Given the description of an element on the screen output the (x, y) to click on. 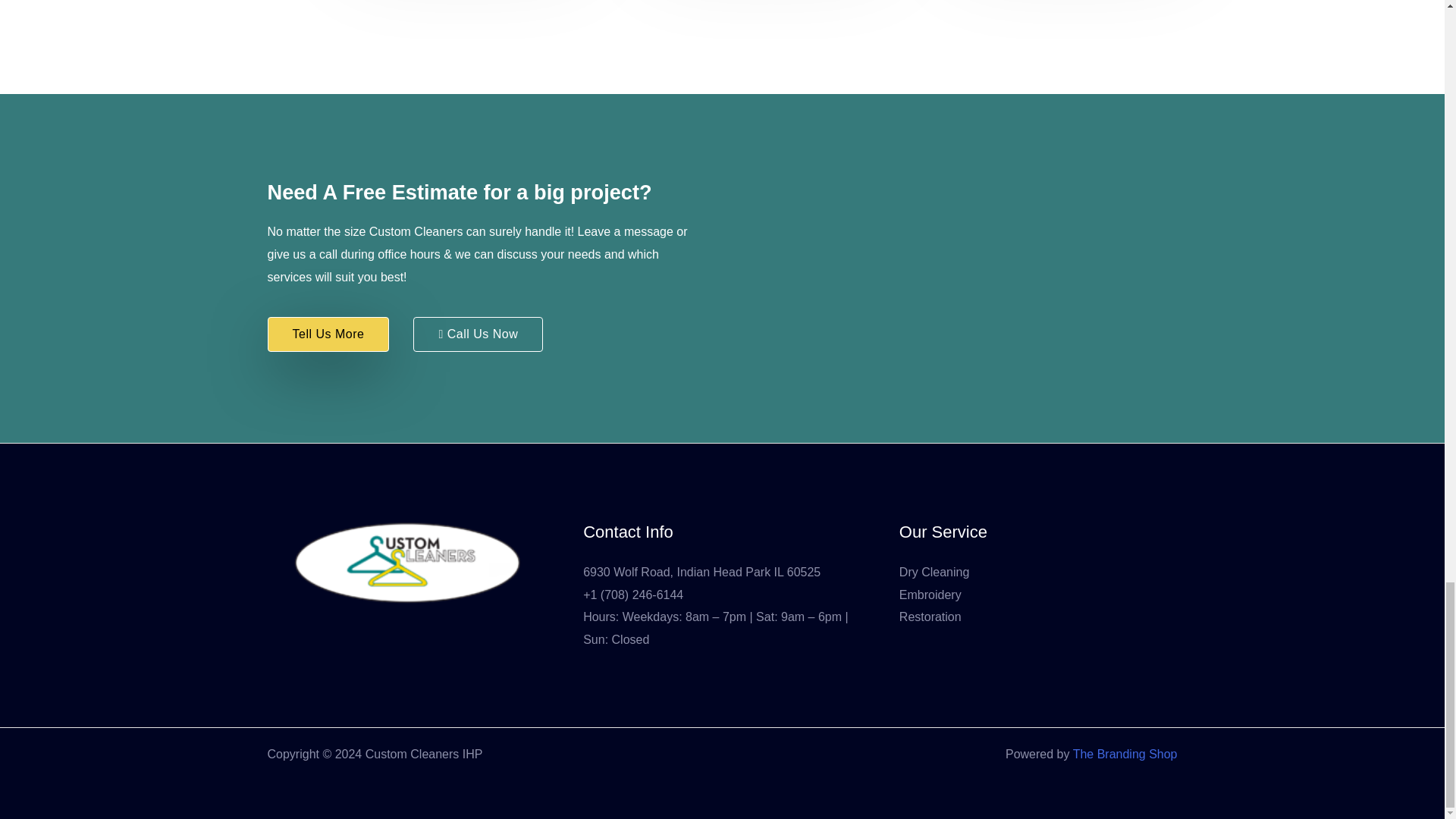
The Branding Shop (1125, 753)
Call Us Now (478, 334)
Dry Cleaning (934, 571)
Tell Us More (327, 334)
Restoration (929, 616)
Embroidery (929, 594)
6930 Wolf Road, Indian Head Park IL 60525 (702, 571)
